Given the description of an element on the screen output the (x, y) to click on. 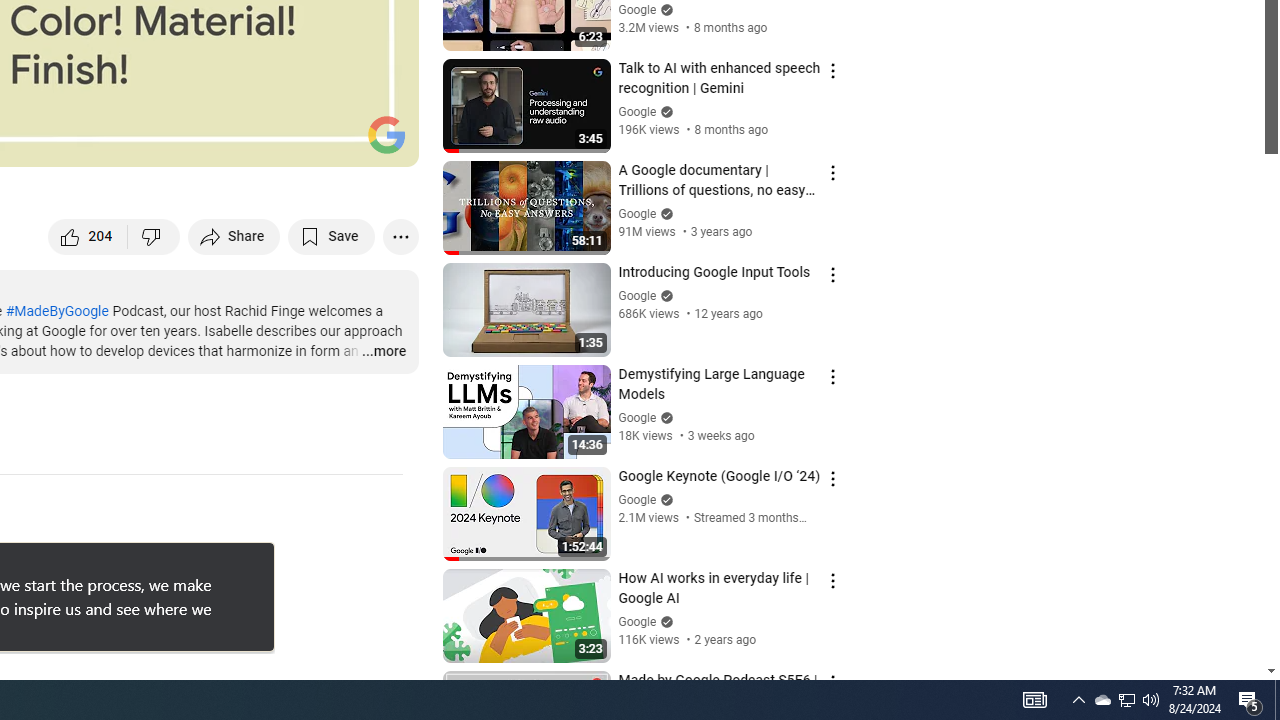
Save to playlist (331, 236)
Subtitles/closed captions unavailable (190, 142)
Miniplayer (i) (286, 142)
...more (382, 352)
Dislike this video (154, 236)
Theater mode (t) (333, 142)
Verified (664, 621)
Full screen (f) (382, 142)
Channel watermark (386, 134)
